Given the description of an element on the screen output the (x, y) to click on. 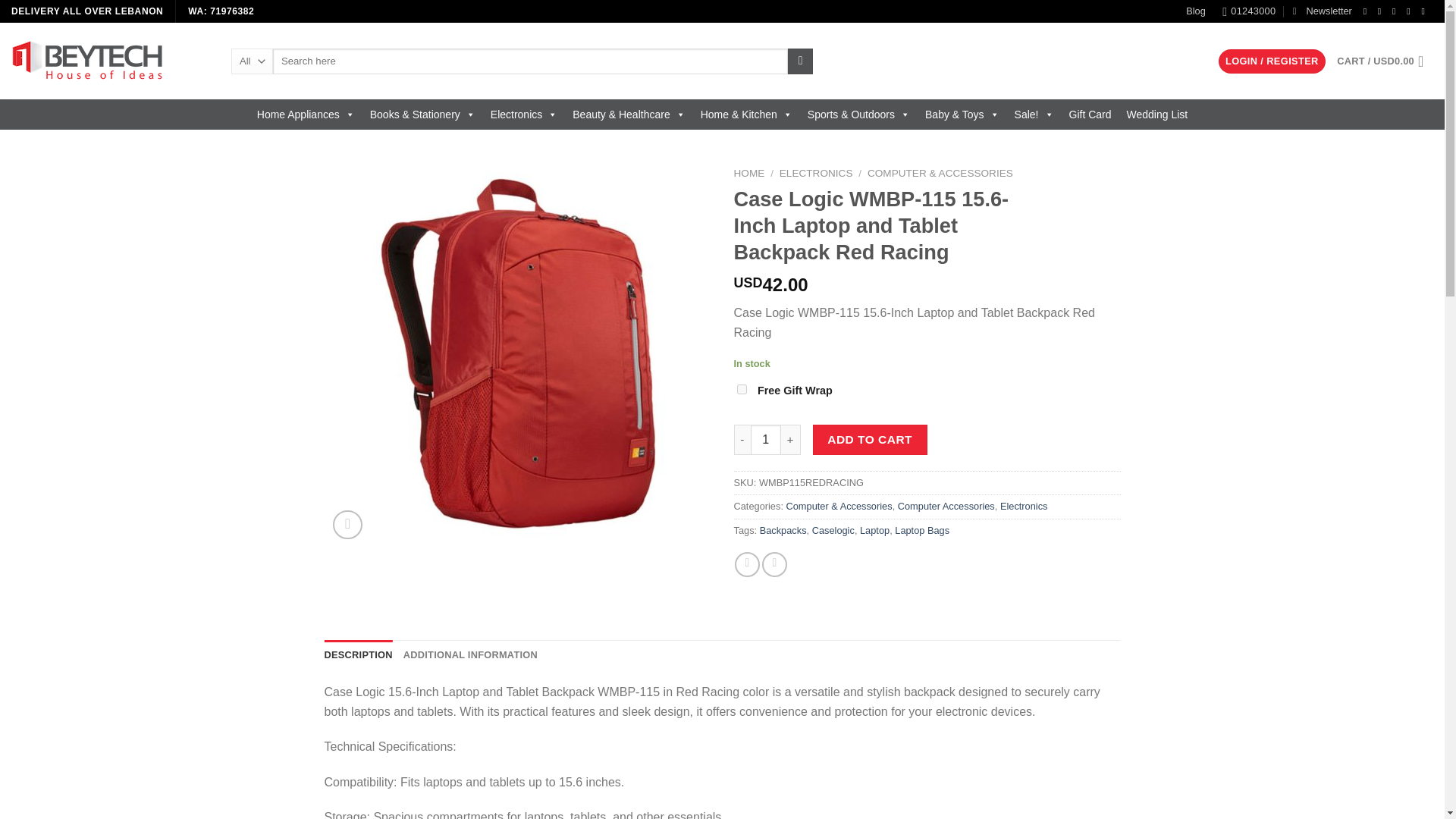
Sign up for Newsletter (1322, 11)
Newsletter (1322, 11)
Beytech - House of ideas (109, 60)
Zoom (347, 524)
01243000 (1249, 11)
Search (799, 61)
Login (1271, 61)
1 (765, 440)
Home Appliances (305, 114)
01243000 (1249, 11)
Cart (1384, 61)
Email to a Friend (774, 564)
on (741, 388)
Share on Facebook (747, 564)
